Given the description of an element on the screen output the (x, y) to click on. 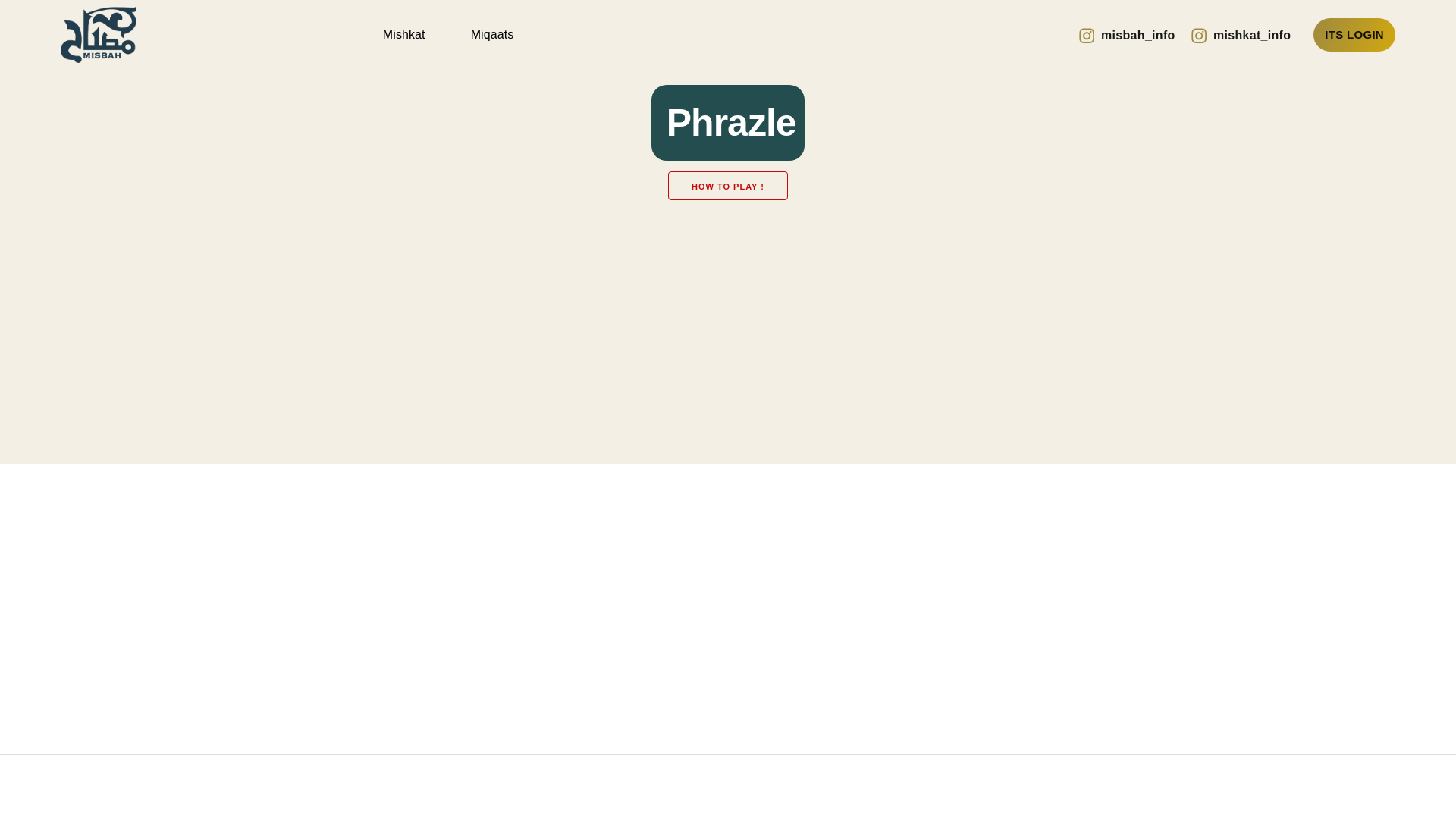
HOW TO PLAY ! (727, 185)
Miqaats (492, 34)
Mishkat (404, 34)
ITS LOGIN (1353, 34)
